Given the description of an element on the screen output the (x, y) to click on. 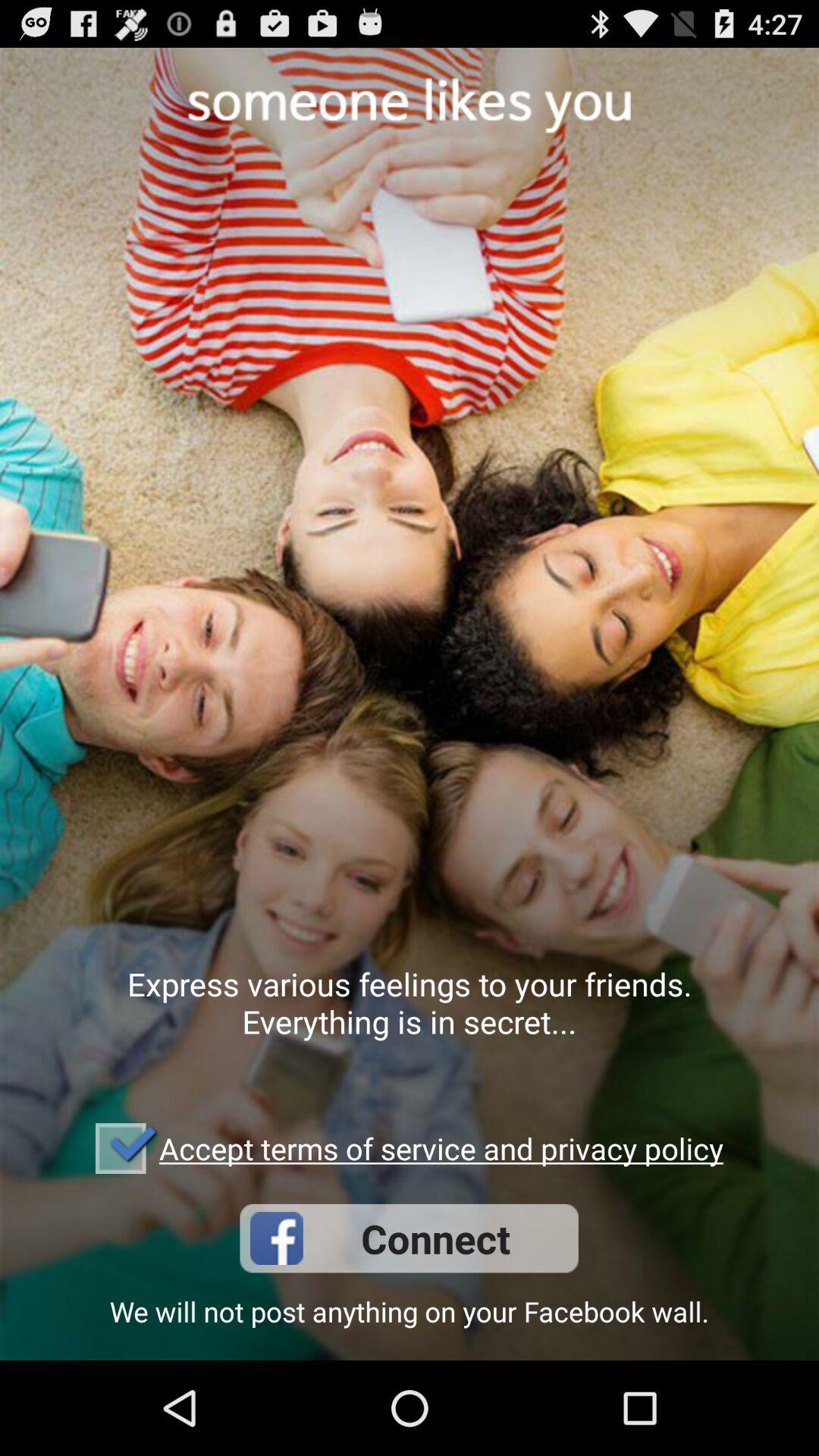
select app above we will not (409, 1238)
